Given the description of an element on the screen output the (x, y) to click on. 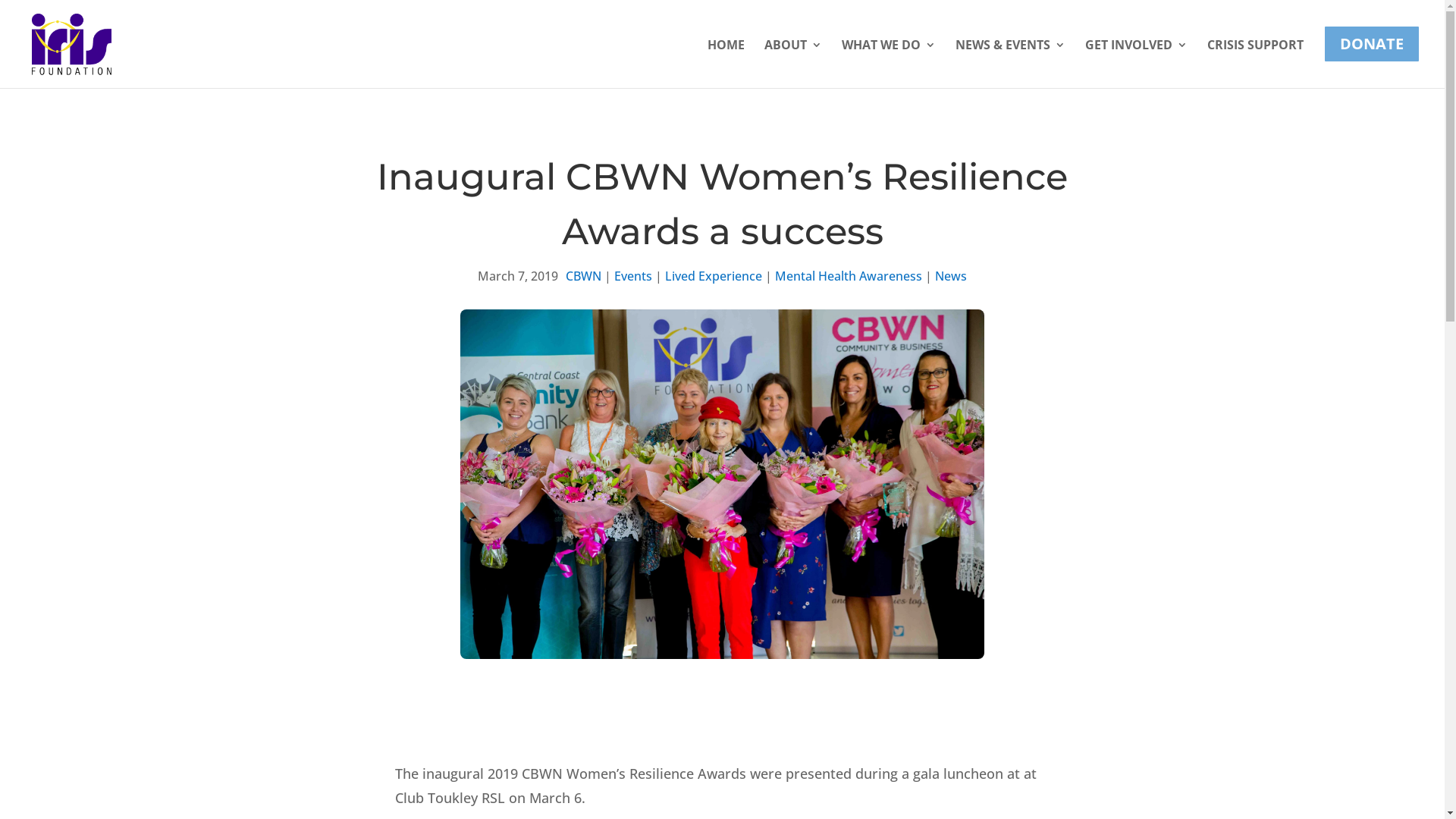
CBWN Element type: text (583, 275)
CBWN_Resilience award nominees Element type: hover (722, 483)
HOME Element type: text (725, 57)
GET INVOLVED Element type: text (1136, 57)
Events Element type: text (633, 275)
Lived Experience Element type: text (713, 275)
CRISIS SUPPORT Element type: text (1255, 57)
NEWS & EVENTS Element type: text (1010, 57)
Mental Health Awareness Element type: text (848, 275)
News Element type: text (950, 275)
DONATE Element type: text (1371, 56)
WHAT WE DO Element type: text (888, 57)
ABOUT Element type: text (793, 57)
